Given the description of an element on the screen output the (x, y) to click on. 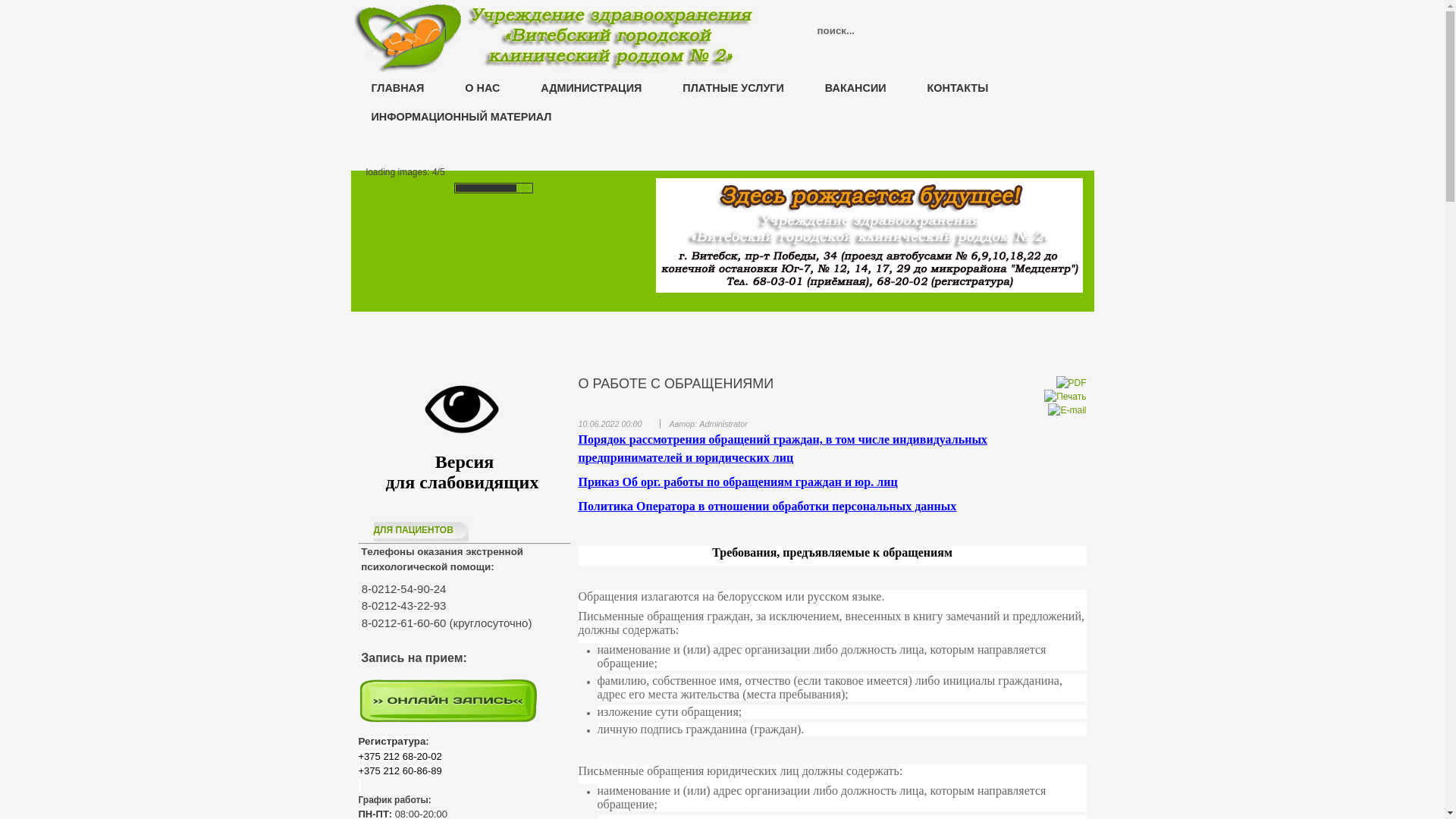
PDF Element type: hover (1070, 382)
E-mail Element type: hover (1066, 409)
